Given the description of an element on the screen output the (x, y) to click on. 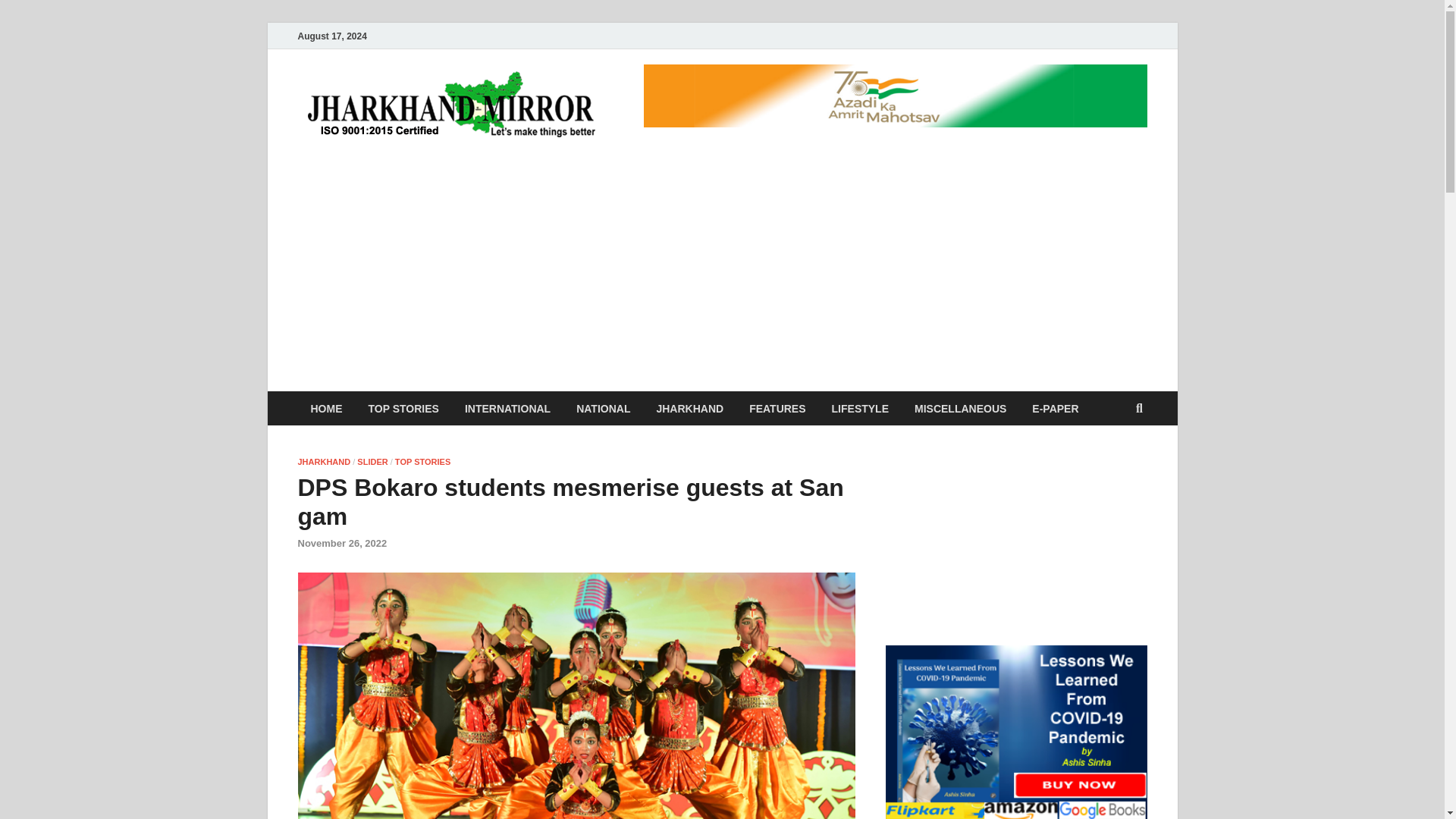
INTERNATIONAL (507, 408)
FEATURES (777, 408)
Chandrayaan-3 Mission Soft-landing LIVE Telecast (1016, 528)
JHARKHAND (689, 408)
TOP STORIES (403, 408)
SLIDER (371, 461)
MISCELLANEOUS (960, 408)
Jharkhand Mirror (723, 100)
TOP STORIES (421, 461)
